Given the description of an element on the screen output the (x, y) to click on. 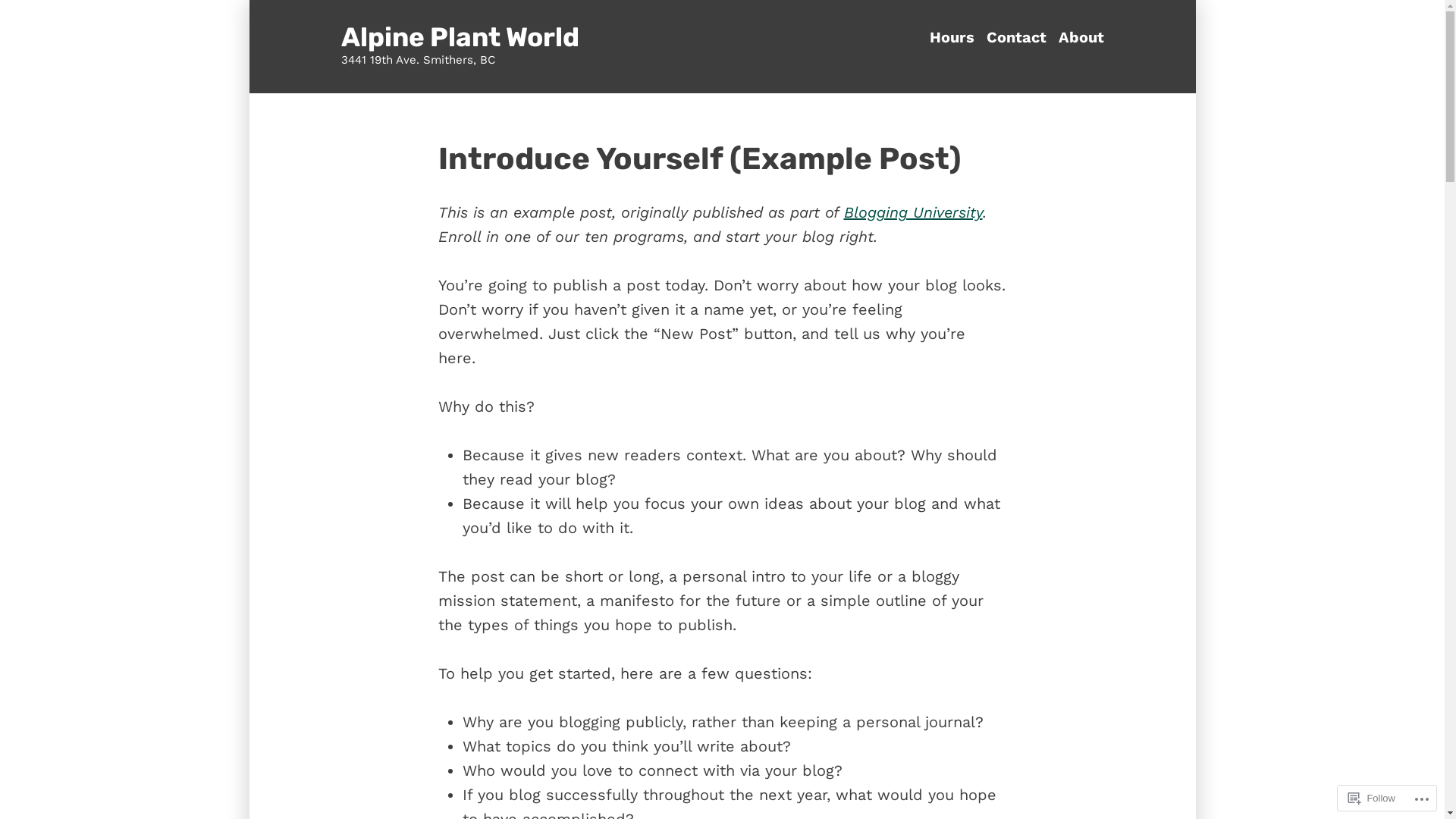
About Element type: text (1078, 37)
Hours Element type: text (954, 37)
Contact Element type: text (1015, 37)
Blogging University Element type: text (912, 212)
Alpine Plant World Element type: text (460, 37)
Introduce Yourself (Example Post) Element type: text (699, 158)
Follow Element type: text (1371, 797)
